Given the description of an element on the screen output the (x, y) to click on. 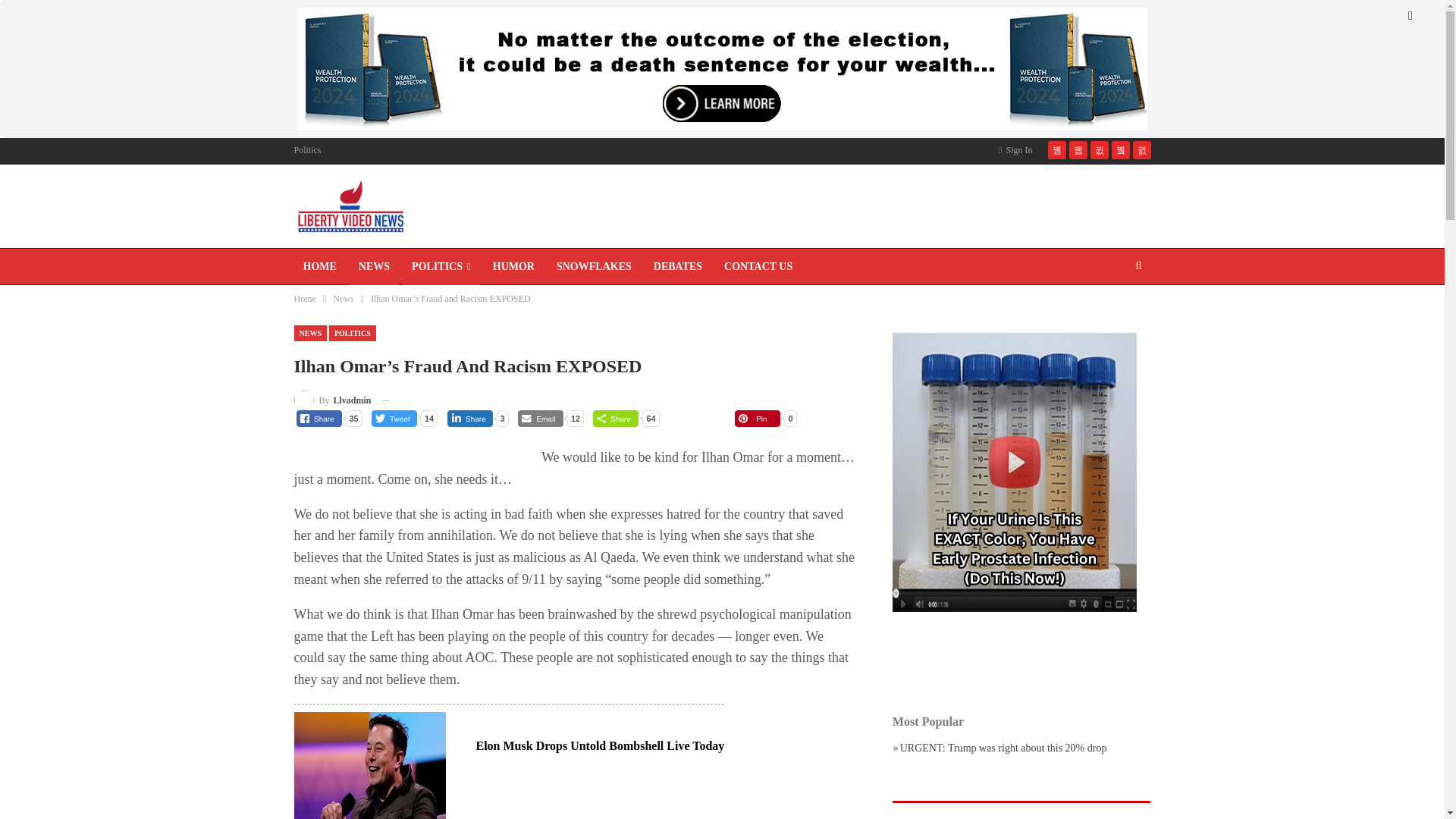
NEWS (373, 266)
Browse Author Articles (332, 399)
Sign In (1018, 149)
POLITICS (441, 266)
HOME (320, 266)
Politics (307, 149)
